Given the description of an element on the screen output the (x, y) to click on. 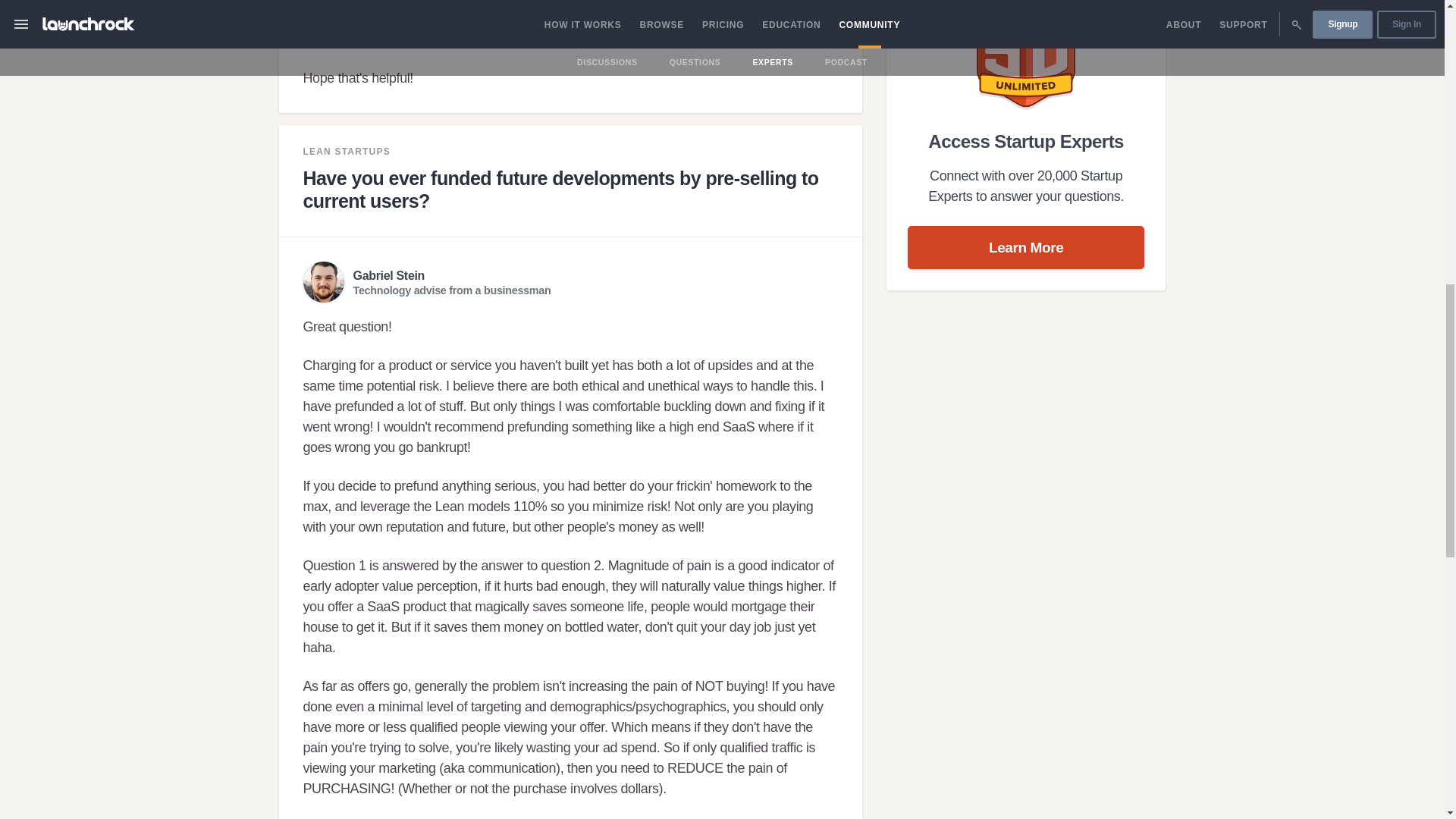
Photo of Gabriel Stein (322, 281)
